Given the description of an element on the screen output the (x, y) to click on. 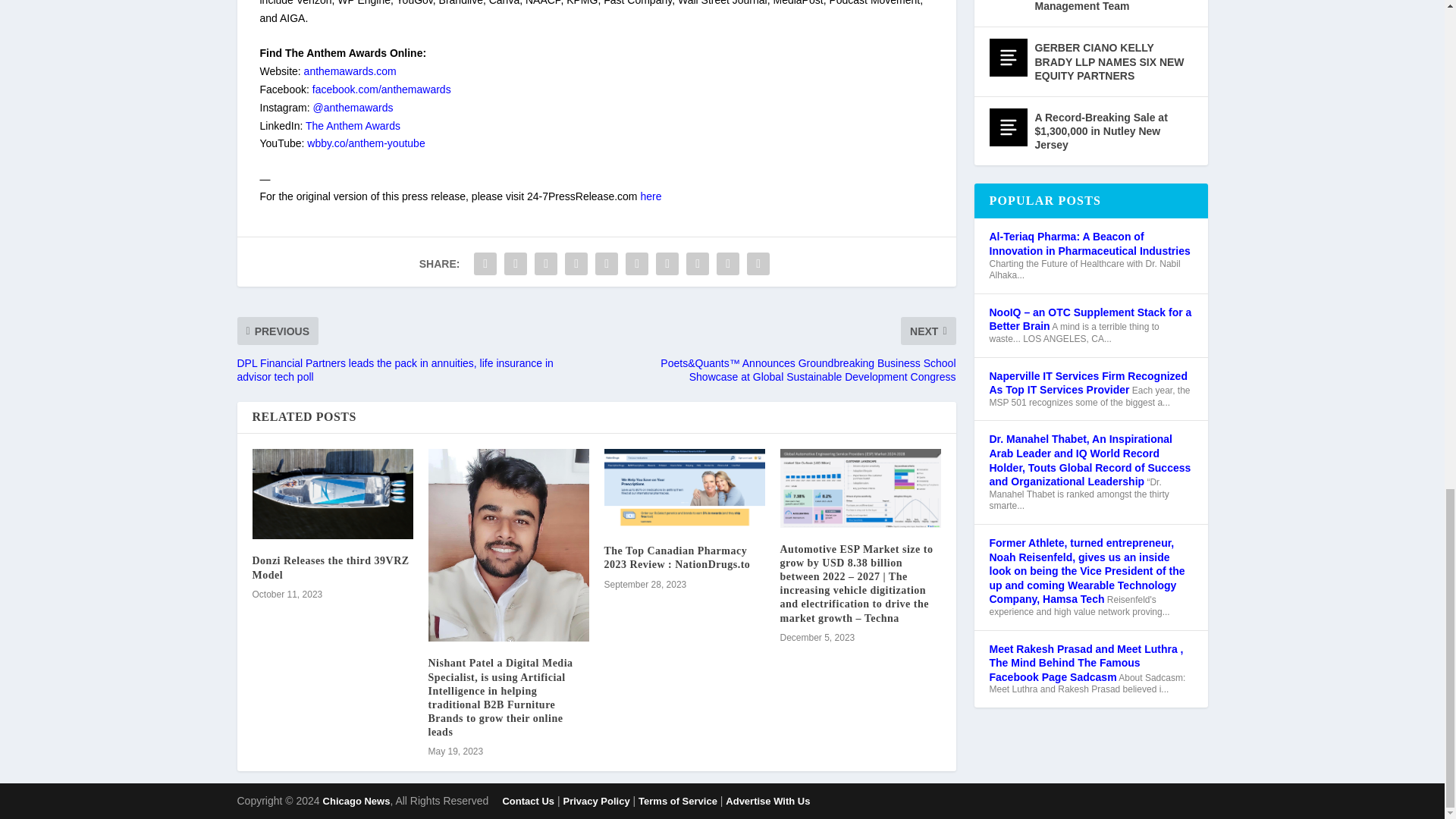
anthemawards.com (350, 70)
Donzi Releases the third 39VRZ Model (330, 567)
Donzi Releases the third 39VRZ Model (331, 493)
here (650, 196)
